Given the description of an element on the screen output the (x, y) to click on. 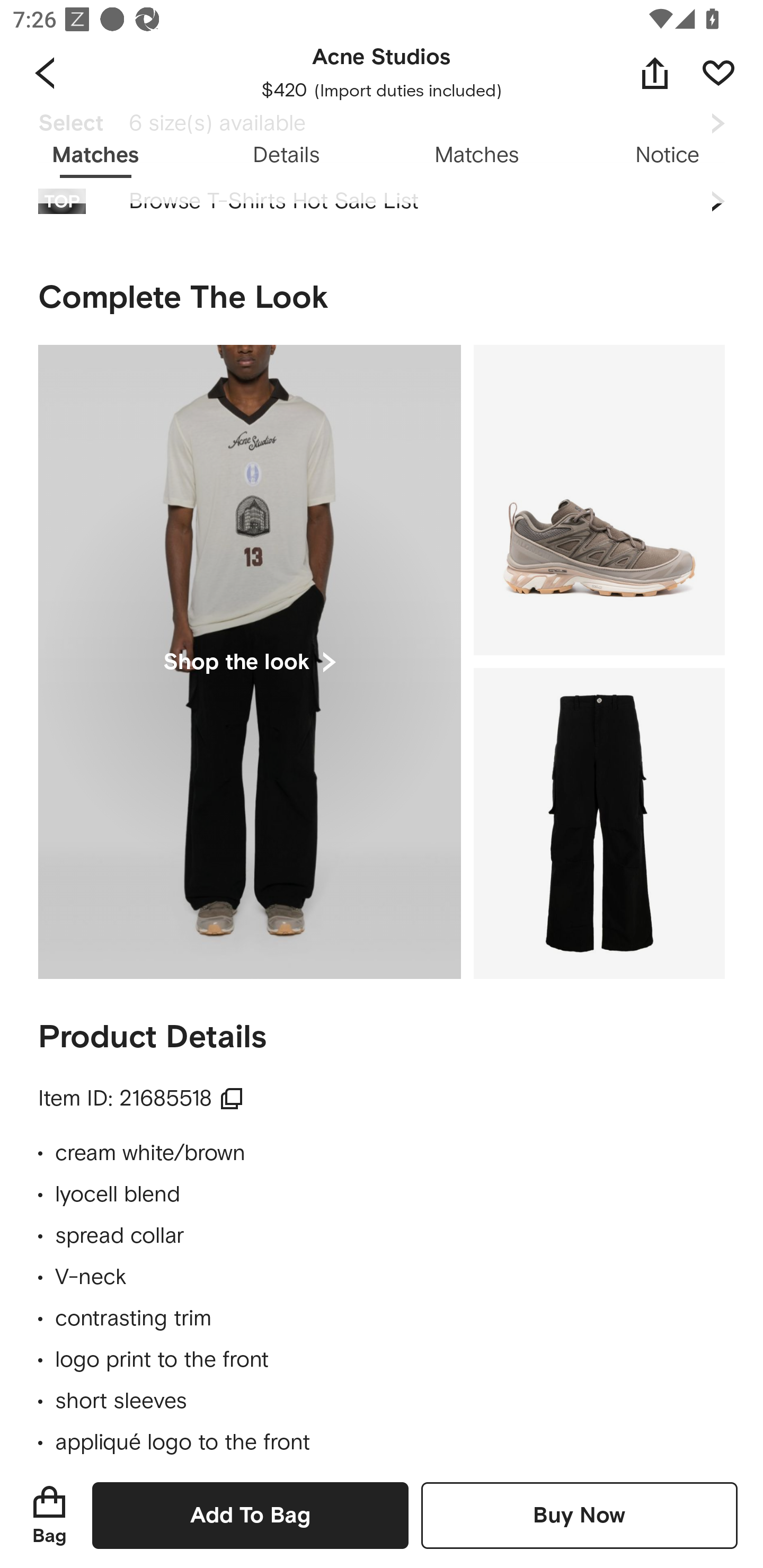
Details (285, 155)
Matches (476, 155)
Notice (667, 155)
Item ID: 21685518 (141, 1099)
Bag (49, 1515)
Add To Bag (250, 1515)
Buy Now (579, 1515)
